Given the description of an element on the screen output the (x, y) to click on. 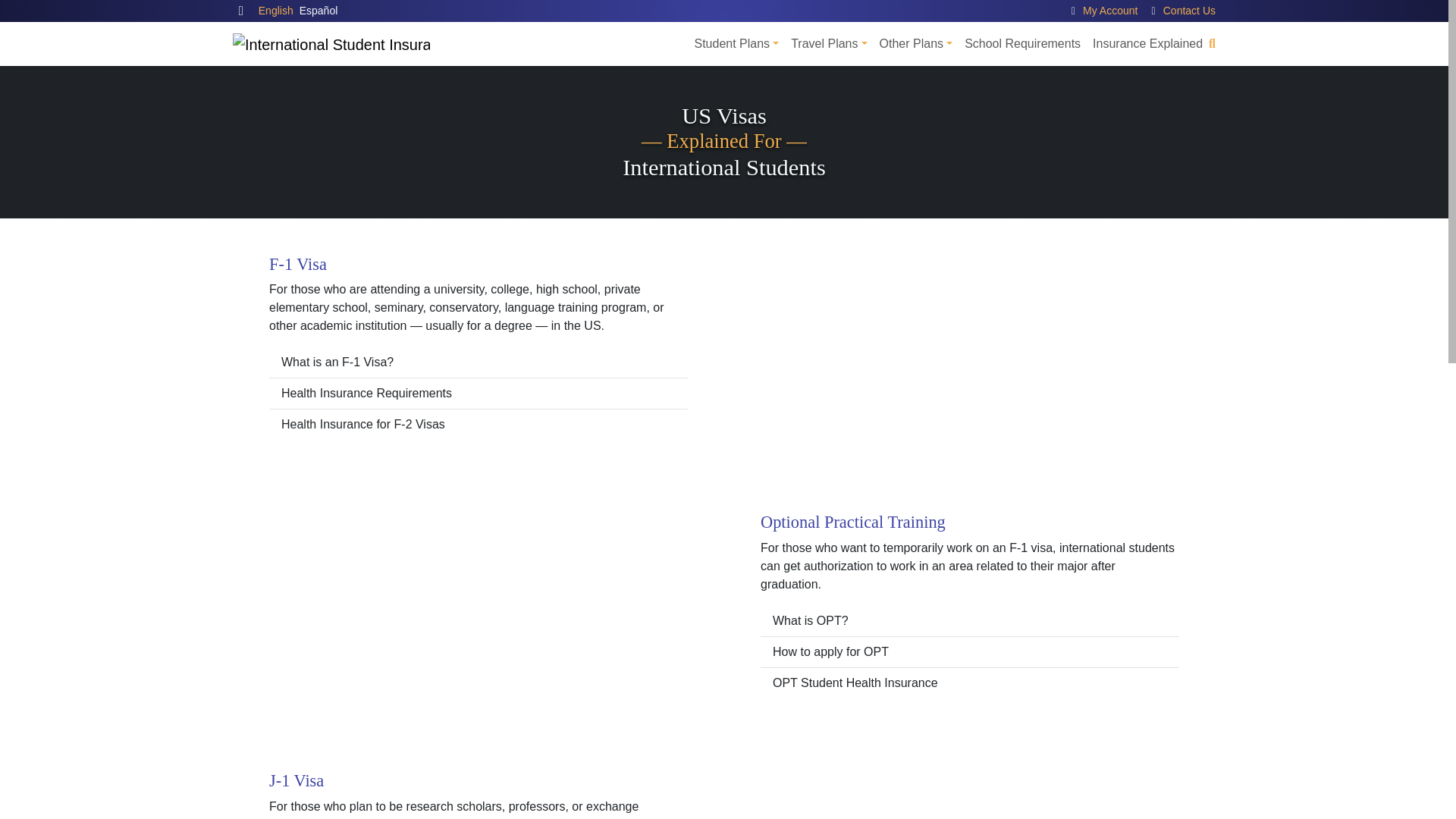
F-1 Visa (297, 263)
What is OPT? (969, 621)
Student Plans (735, 43)
Other Plans (916, 43)
J-1 Visa (296, 780)
Health Insurance for F-2 Visas (478, 424)
Contact Us (1189, 10)
My Account (1110, 10)
Optional Practical Training (852, 521)
Insurance Explained (1147, 43)
